Given the description of an element on the screen output the (x, y) to click on. 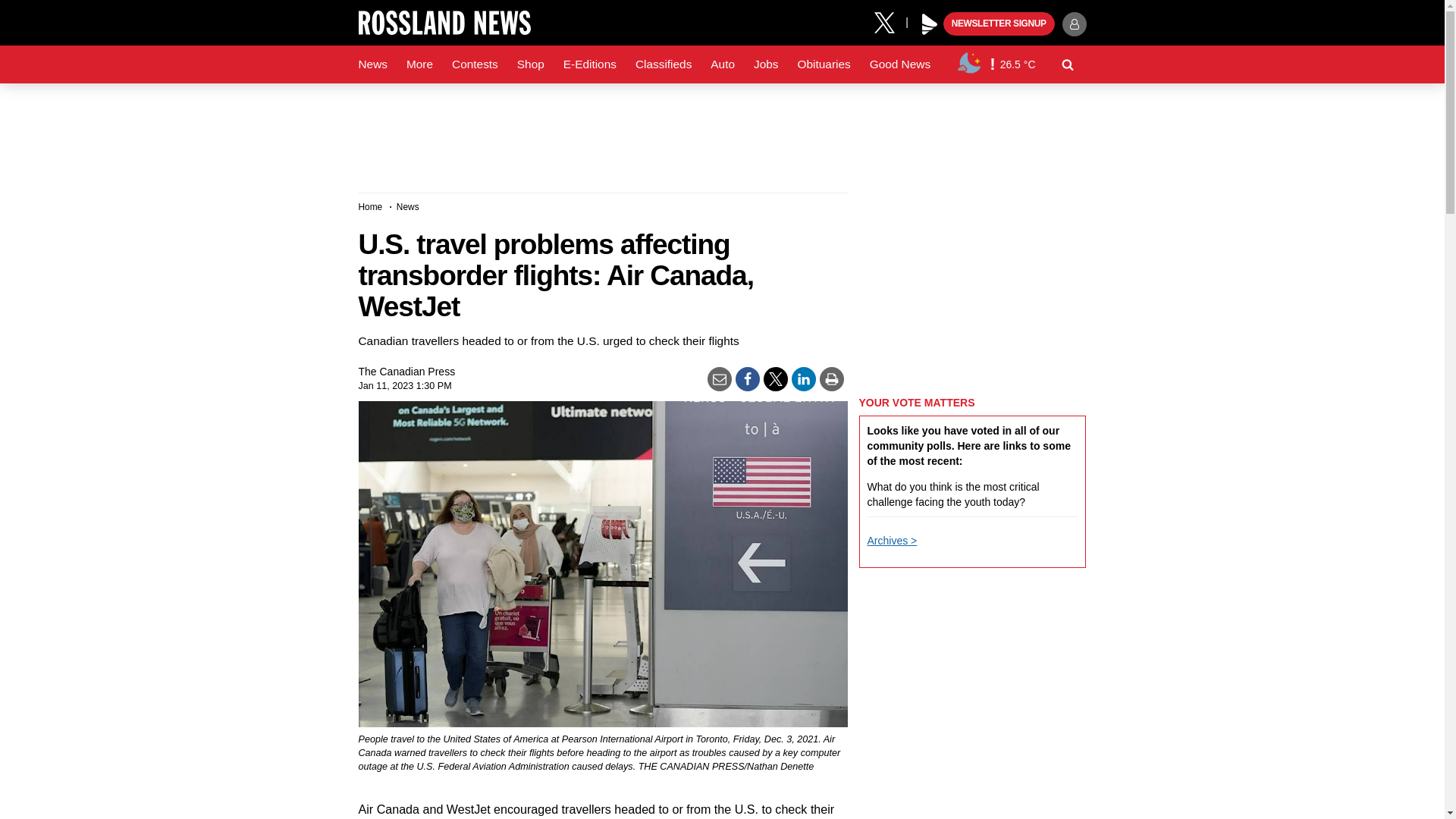
Play (929, 24)
NEWSLETTER SIGNUP (998, 24)
X (889, 21)
Weather alert (992, 64)
Black Press Media (929, 24)
News (372, 64)
